Given the description of an element on the screen output the (x, y) to click on. 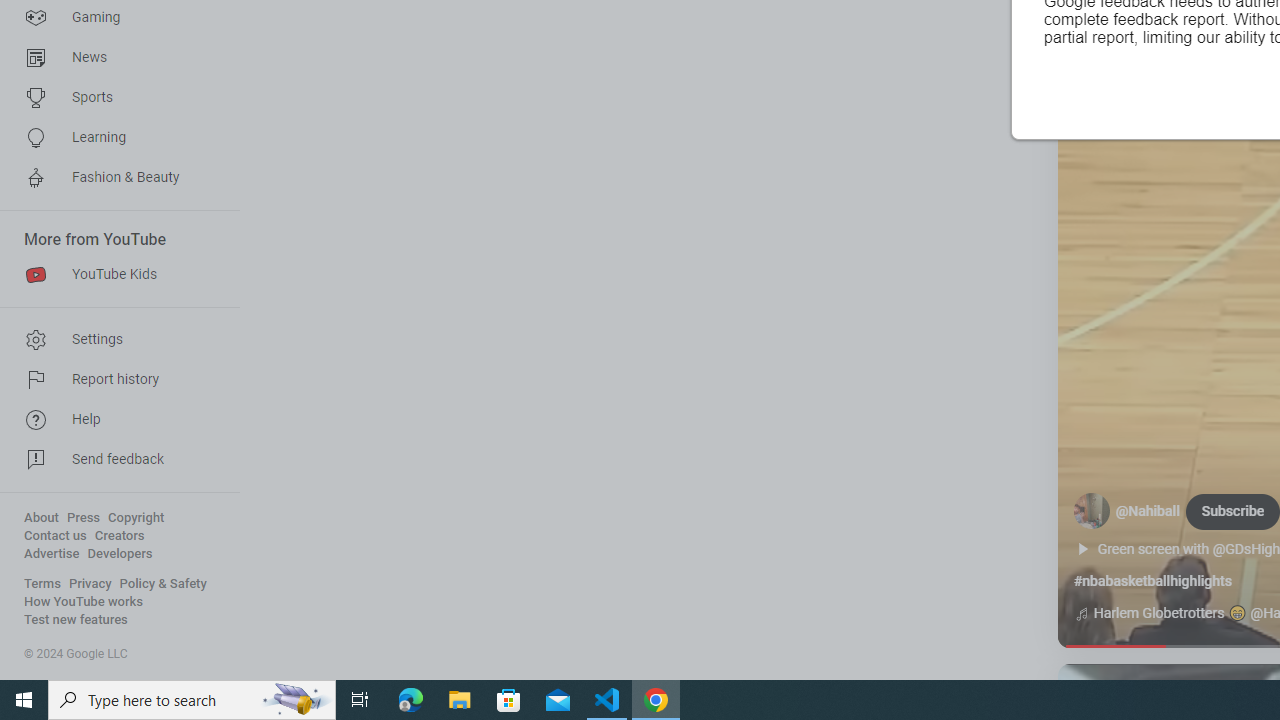
YouTube Kids (113, 274)
Advertise (51, 554)
Test new features (76, 620)
Developers (120, 554)
Contact us (55, 536)
Press (83, 518)
Copyright (136, 518)
About (41, 518)
#nbabasketballhighlights (1151, 581)
Sports (113, 97)
Policy & Safety (163, 584)
Creators (118, 536)
